Given the description of an element on the screen output the (x, y) to click on. 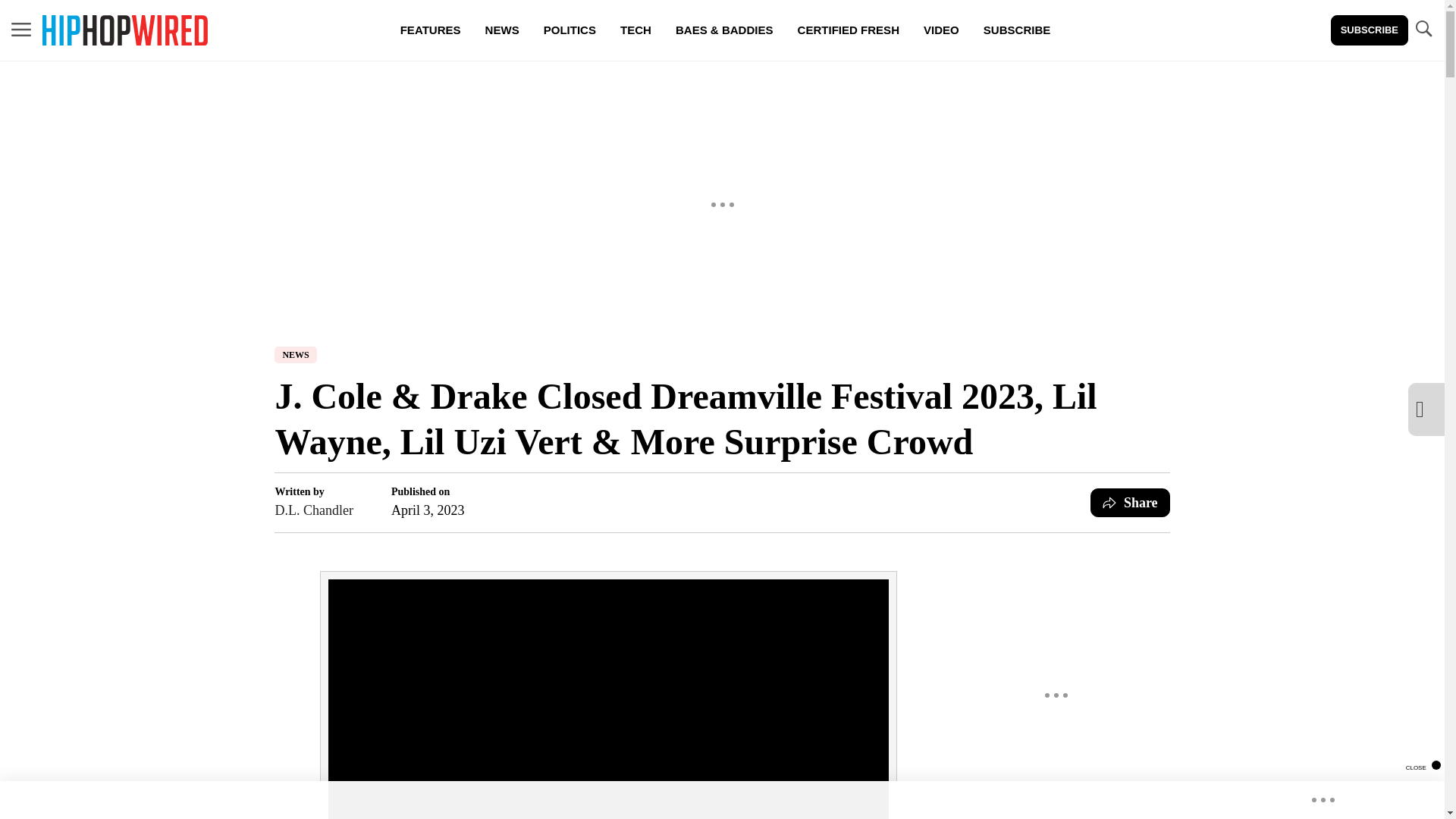
CERTIFIED FRESH (848, 30)
NEWS (295, 354)
TOGGLE SEARCH (1422, 28)
D.L. Chandler (313, 509)
Share (1130, 502)
SUBSCRIBE (1368, 30)
VIDEO (941, 30)
MENU (20, 30)
POLITICS (569, 30)
MENU (20, 29)
